Given the description of an element on the screen output the (x, y) to click on. 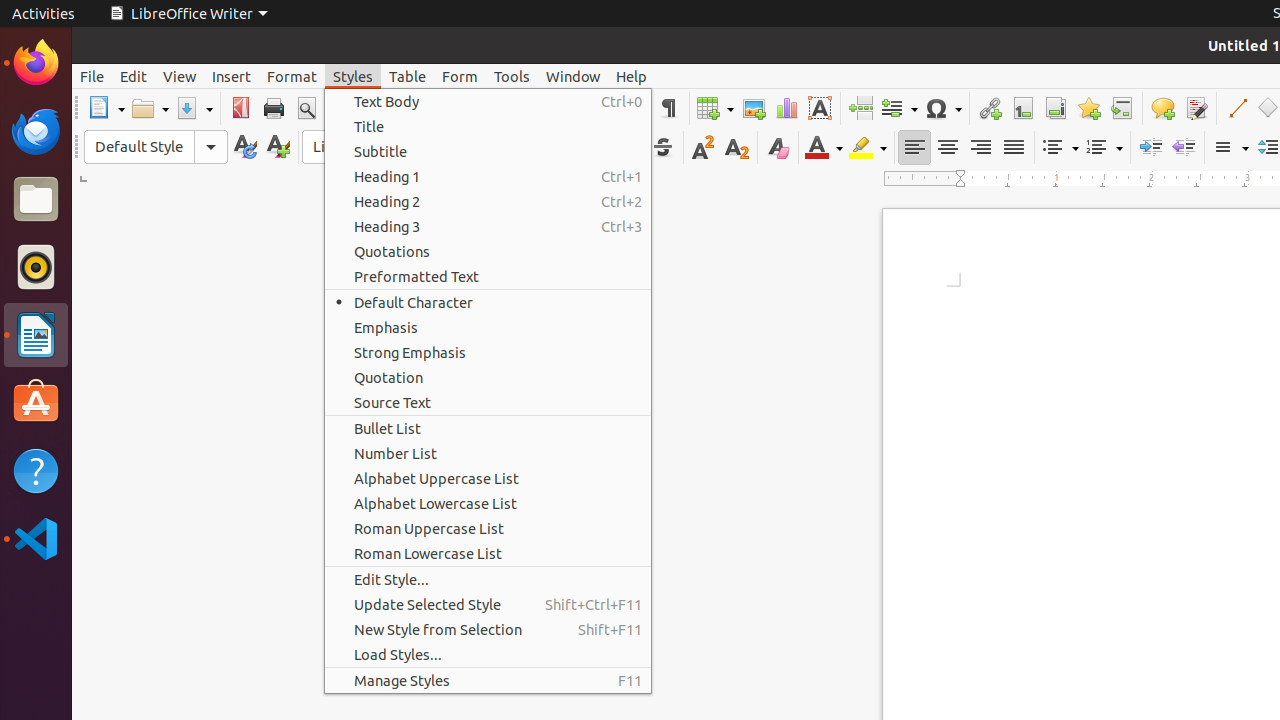
Table Element type: menu (407, 76)
View Element type: menu (179, 76)
Quotations Element type: radio-menu-item (488, 251)
Formatting Marks Element type: toggle-button (668, 108)
Help Element type: menu (631, 76)
